Given the description of an element on the screen output the (x, y) to click on. 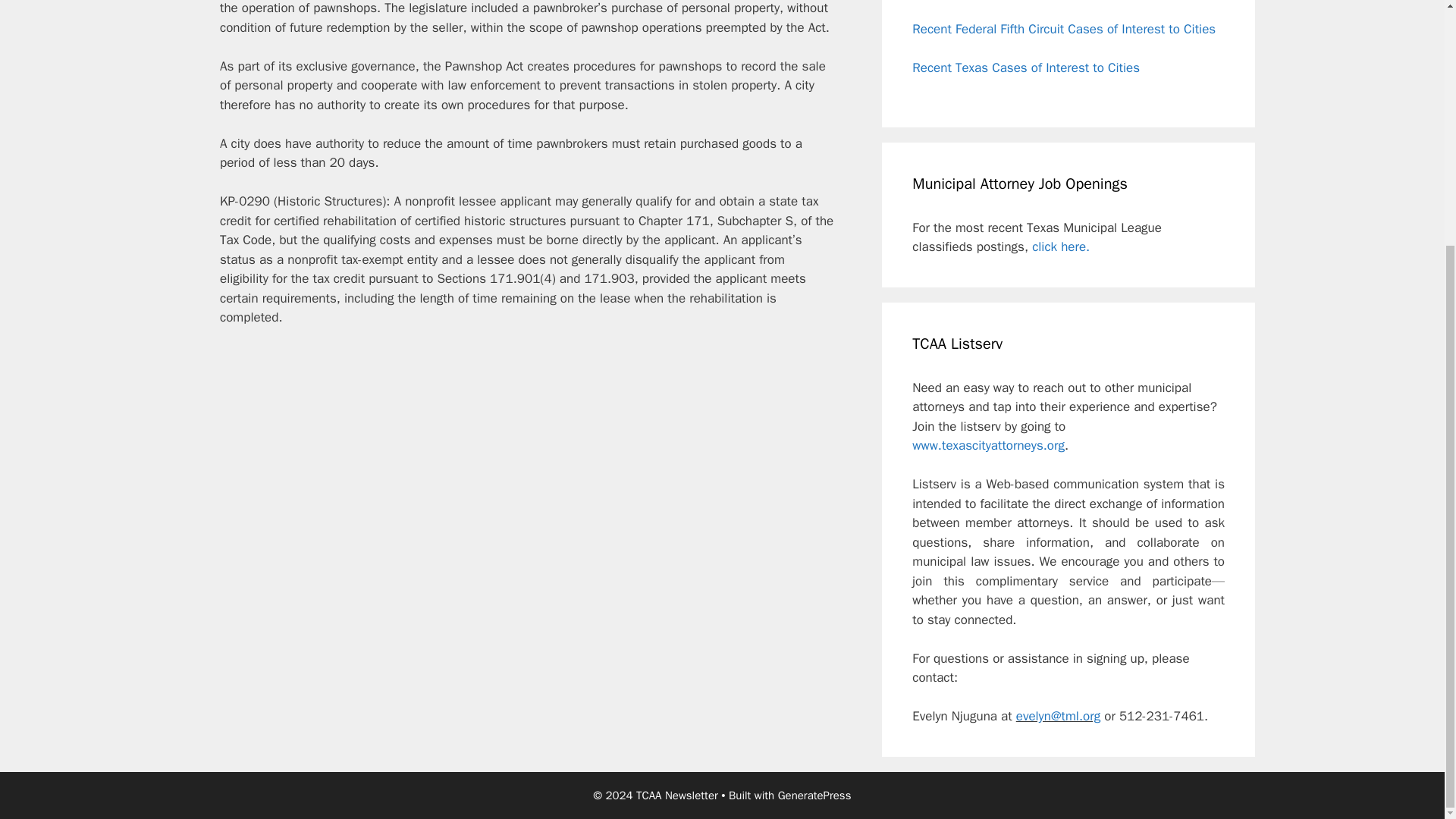
www.texascityattorneys.org (988, 445)
Recent Federal Fifth Circuit Cases of Interest to Cities (1063, 28)
GeneratePress (814, 795)
Recent Texas Cases of Interest to Cities (1026, 67)
click here. (1060, 246)
